Given the description of an element on the screen output the (x, y) to click on. 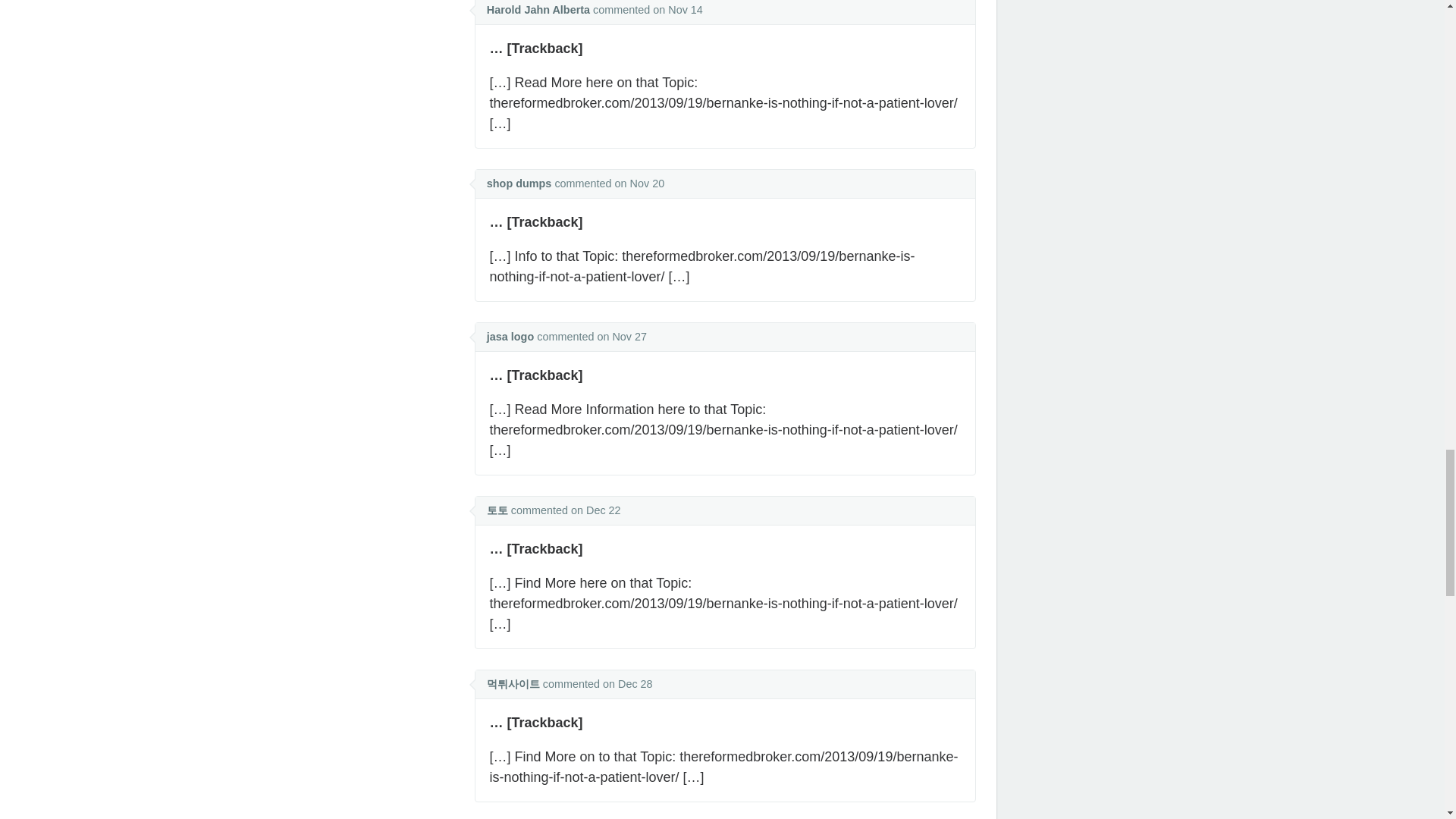
Harold Jahn Alberta (537, 9)
jasa logo (510, 336)
shop dumps (518, 183)
